Given the description of an element on the screen output the (x, y) to click on. 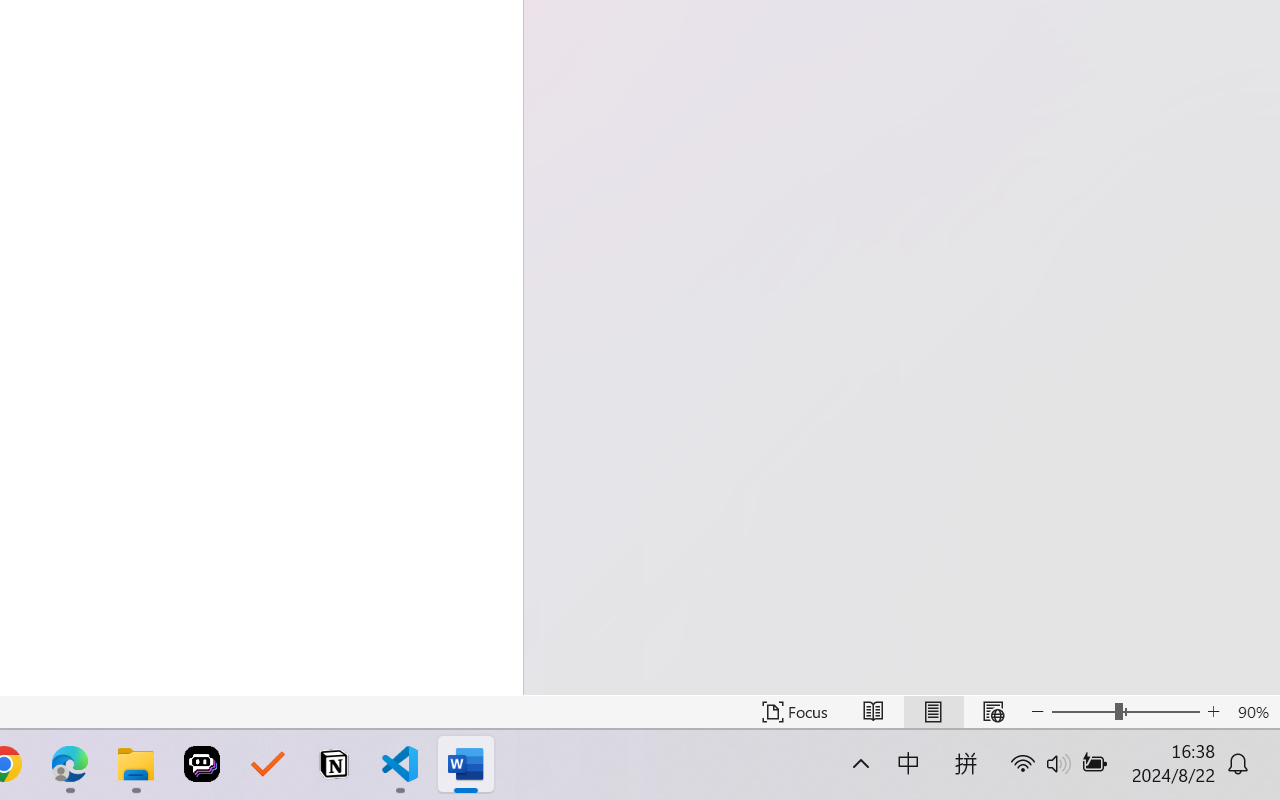
Zoom 90% (1253, 712)
